Given the description of an element on the screen output the (x, y) to click on. 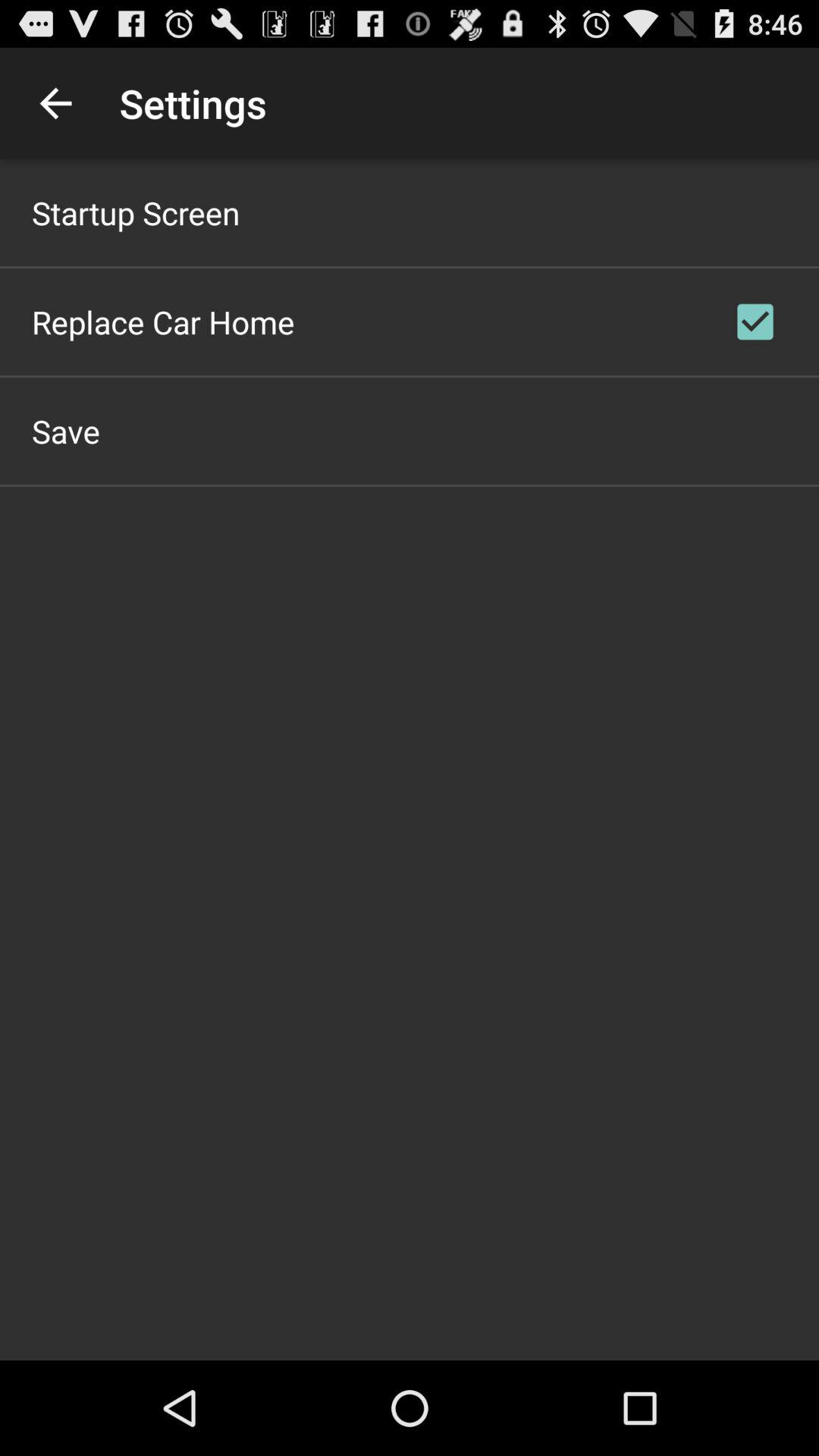
choose the icon below startup screen app (162, 321)
